Given the description of an element on the screen output the (x, y) to click on. 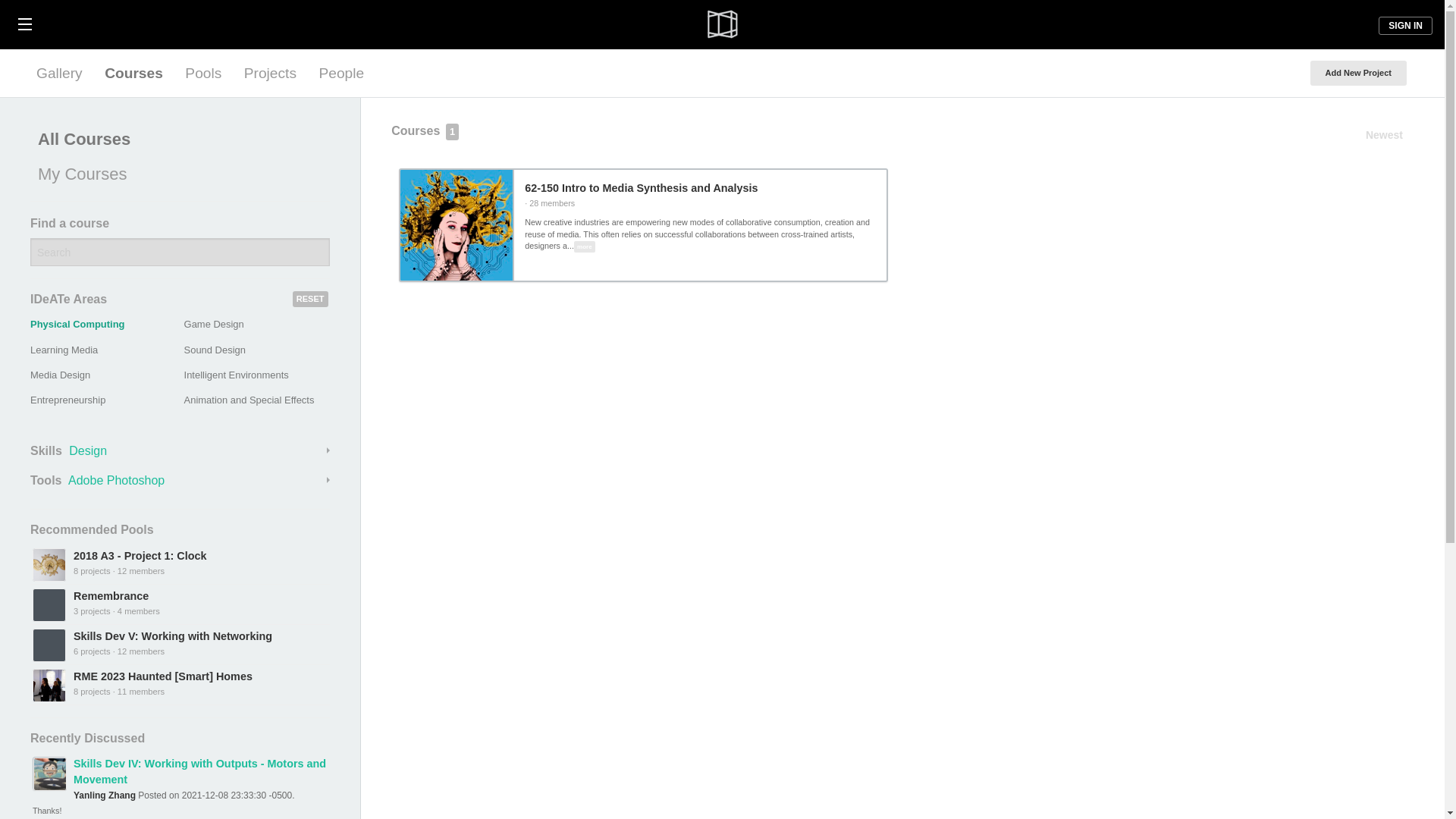
Skills Design (180, 451)
Entrepreneurship (67, 399)
Intelligent Environments (236, 374)
Media Design (60, 374)
Courses (133, 73)
People (341, 73)
Add New Project (1358, 72)
RESET (310, 299)
All Courses (175, 139)
Animation and Special Effects (249, 399)
